Given the description of an element on the screen output the (x, y) to click on. 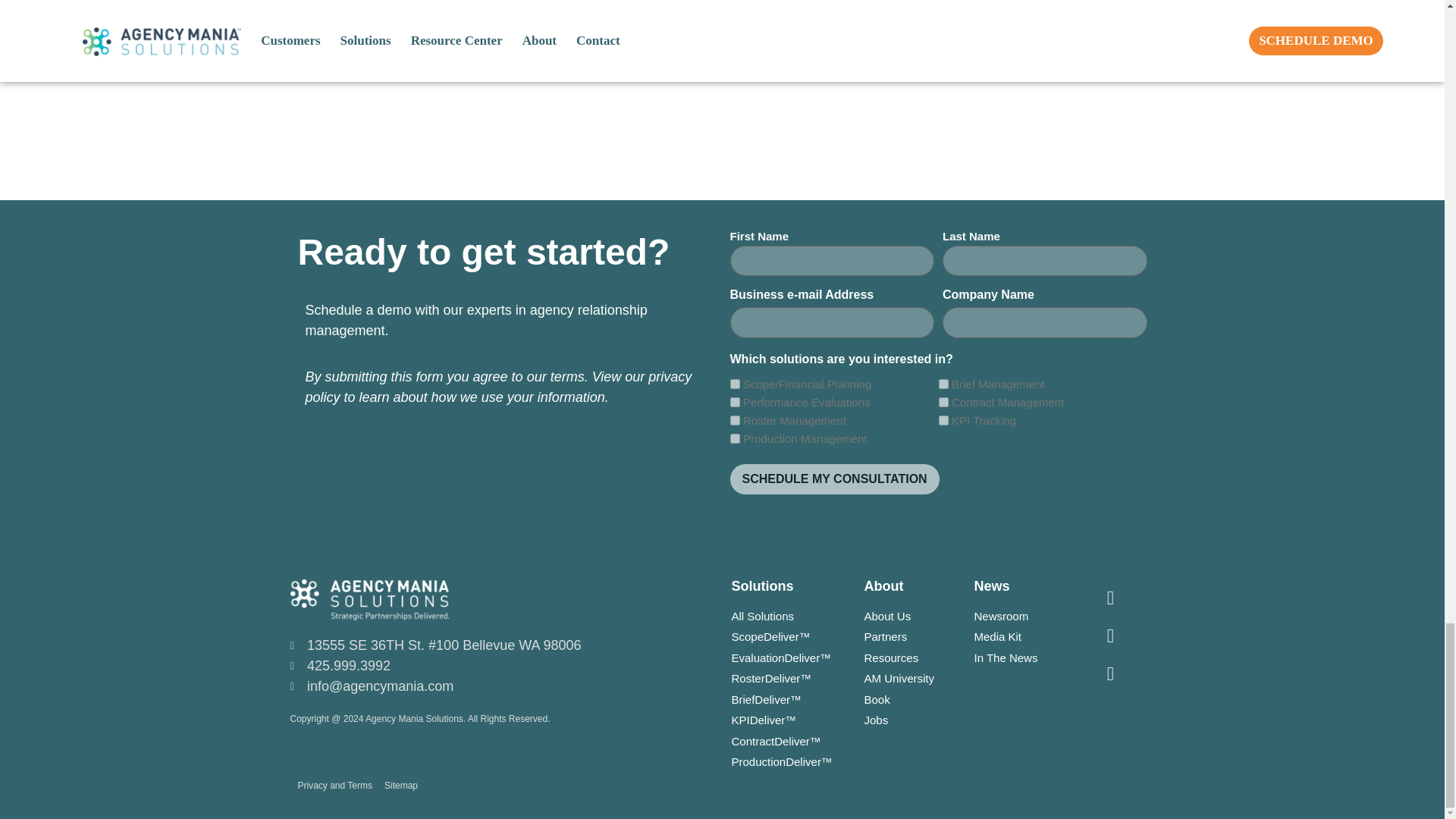
Contract Management (944, 402)
Brief Management (944, 384)
KPI Tracking (944, 420)
Roster Management (734, 420)
Performance Evaluations (734, 402)
Production Management (734, 438)
Schedule My Consultation (834, 479)
